Given the description of an element on the screen output the (x, y) to click on. 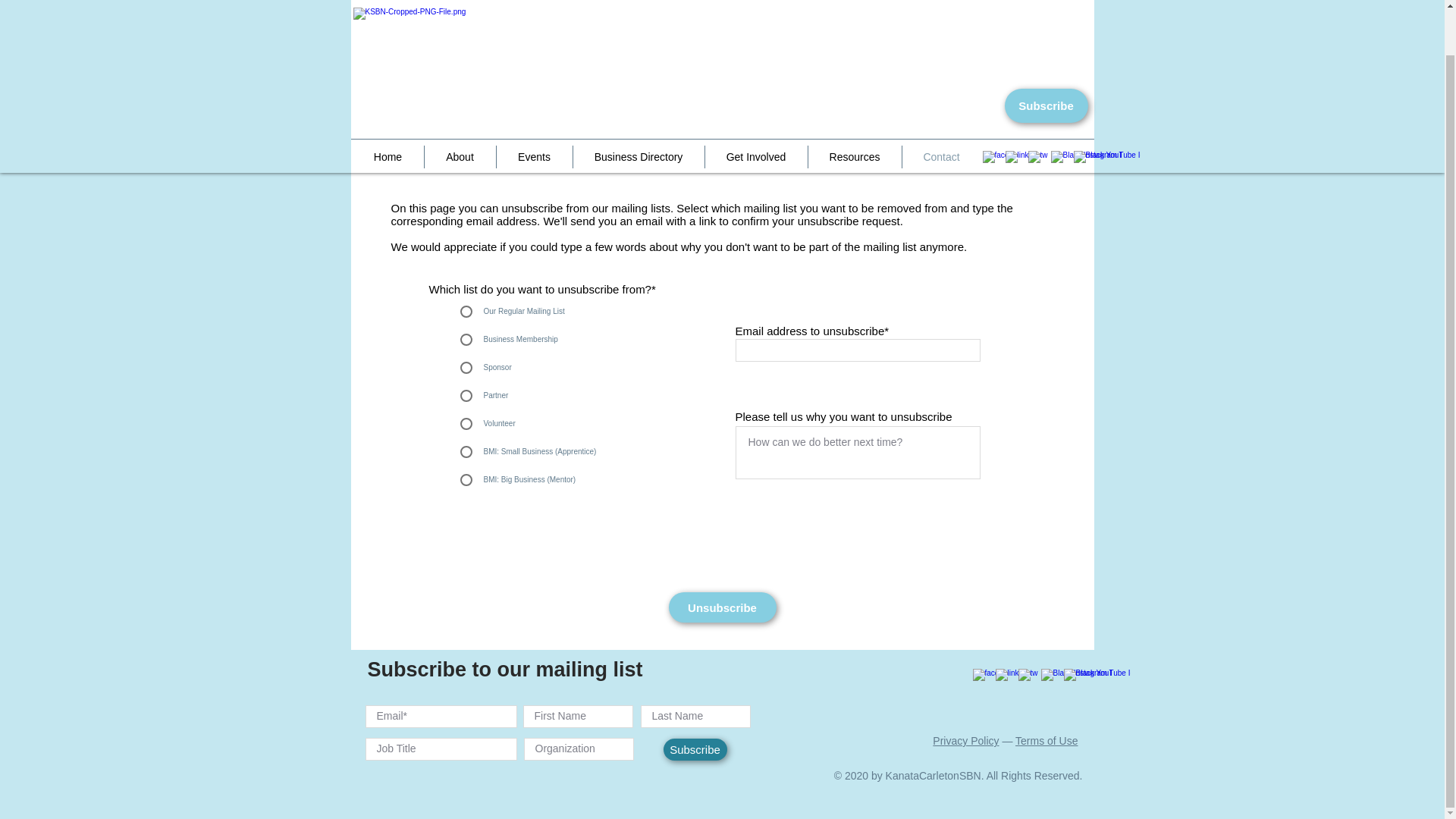
Business Directory (638, 108)
Subscribe (1045, 57)
Home (387, 108)
Get Involved (756, 108)
Events (534, 108)
Resources (854, 108)
About (460, 108)
Contact (941, 108)
